Given the description of an element on the screen output the (x, y) to click on. 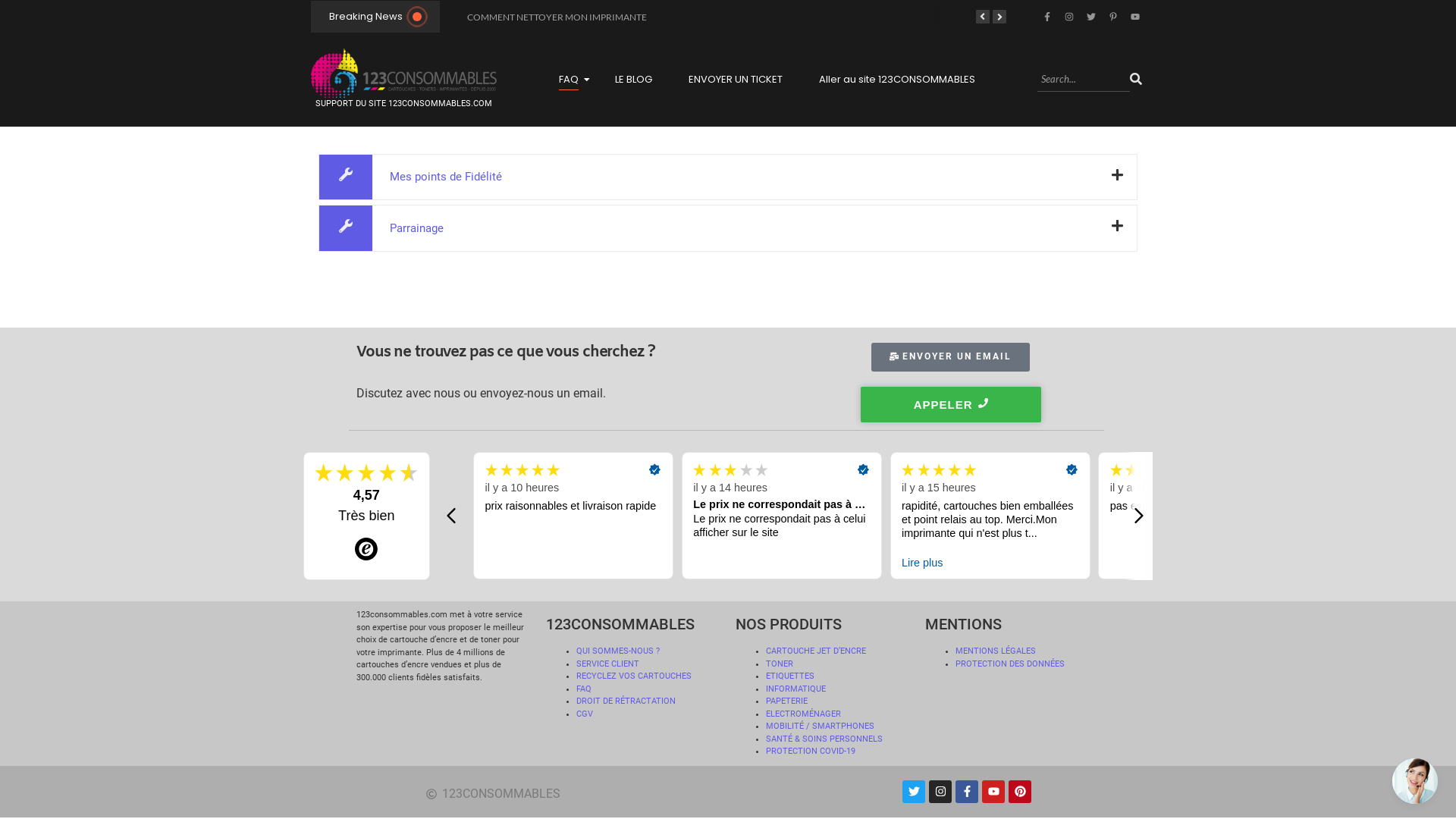
Search Element type: hover (1083, 79)
Parrainage Element type: text (727, 227)
COMMENT NETTOYER MON IMPRIMANTE Element type: text (556, 16)
INFORMATIQUE Element type: text (795, 688)
ENVOYER UN TICKET Element type: text (735, 79)
ETIQUETTES Element type: text (789, 675)
QUI SOMMES-NOUS ? Element type: text (617, 650)
CGV Element type: text (584, 713)
RECYCLEZ VOS CARTOUCHES Element type: text (633, 675)
LE BLOG Element type: text (633, 79)
TONER Element type: text (779, 663)
ENVOYER UN EMAIL Element type: text (950, 356)
PAPETERIE Element type: text (786, 701)
PROTECTION COVID-19 Element type: text (810, 751)
SERVICE CLIENT Element type: text (607, 663)
FAQ Element type: text (583, 688)
FAQ Element type: text (568, 79)
Aller au site 123CONSOMMABLES Element type: text (896, 79)
APPELER Element type: text (950, 404)
123CONSOMMABLES Element type: text (576, 793)
